Given the description of an element on the screen output the (x, y) to click on. 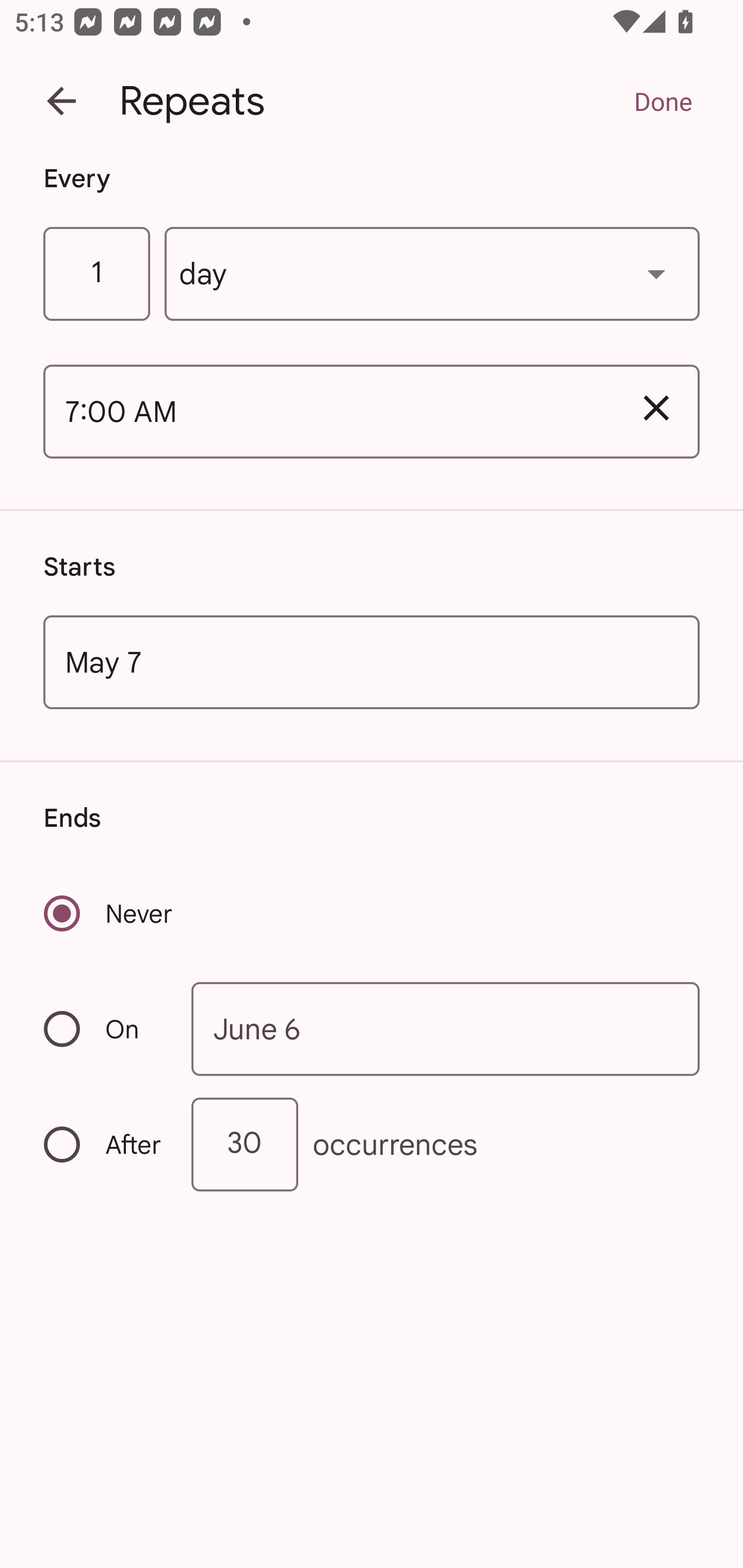
Back (61, 101)
Done (663, 101)
1 (96, 274)
day (431, 274)
Show dropdown menu (655, 273)
7:00 AM (327, 411)
Remove 7:00 AM (655, 408)
May 7 (371, 661)
Never Recurrence never ends (109, 913)
June 6 (445, 1028)
On Recurrence ends on a specific date (104, 1029)
30 (244, 1144)
